Given the description of an element on the screen output the (x, y) to click on. 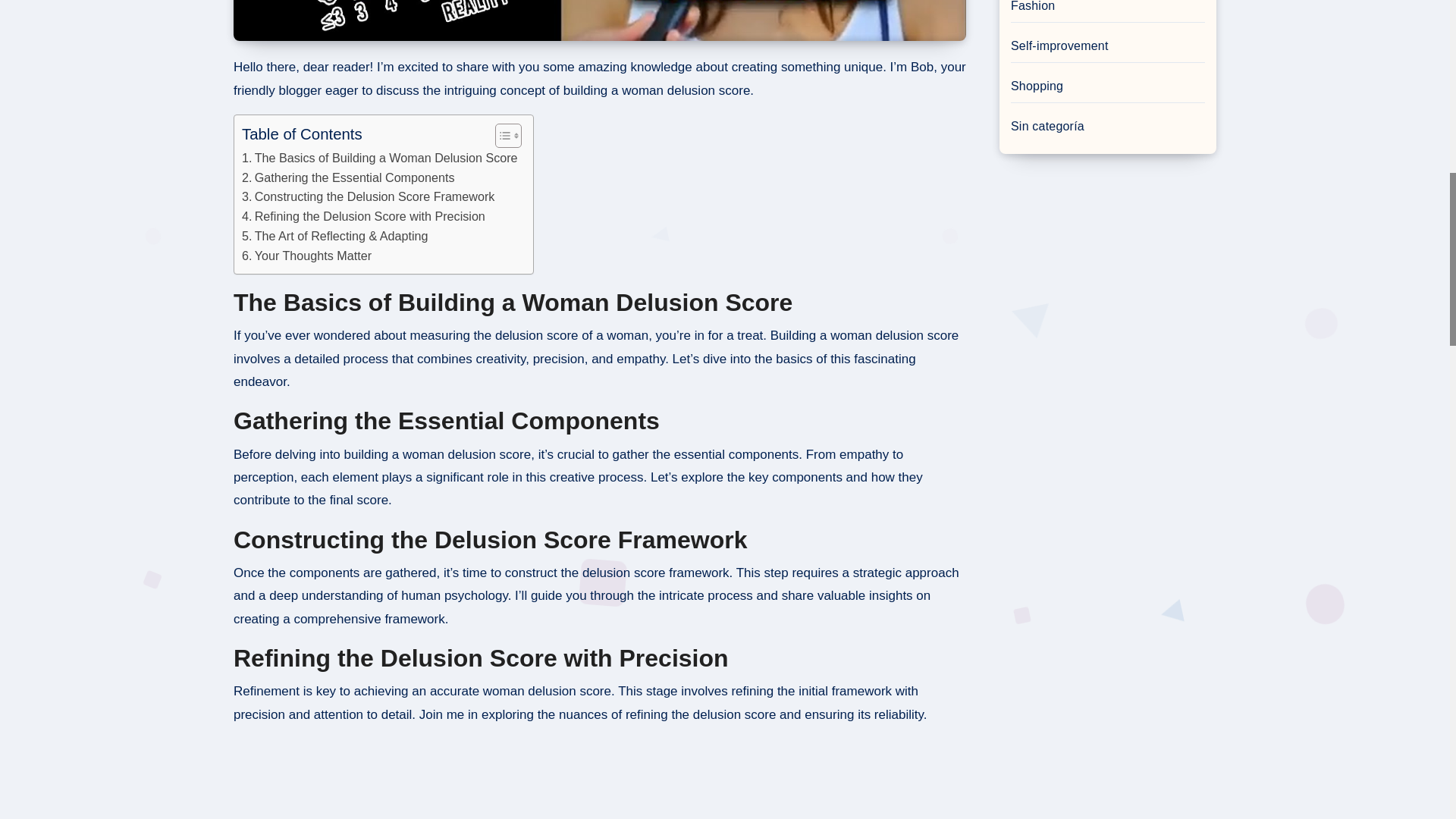
Refining the Delusion Score with Precision (362, 216)
Refining the Delusion Score with Precision (362, 216)
Gathering the Essential Components (347, 178)
Constructing the Delusion Score Framework (368, 197)
The Basics of Building a Woman Delusion Score (379, 158)
Your Thoughts Matter (306, 256)
Gathering the Essential Components (347, 178)
Constructing the Delusion Score Framework (368, 197)
The Basics of Building a Woman Delusion Score (379, 158)
Your Thoughts Matter (306, 256)
